Given the description of an element on the screen output the (x, y) to click on. 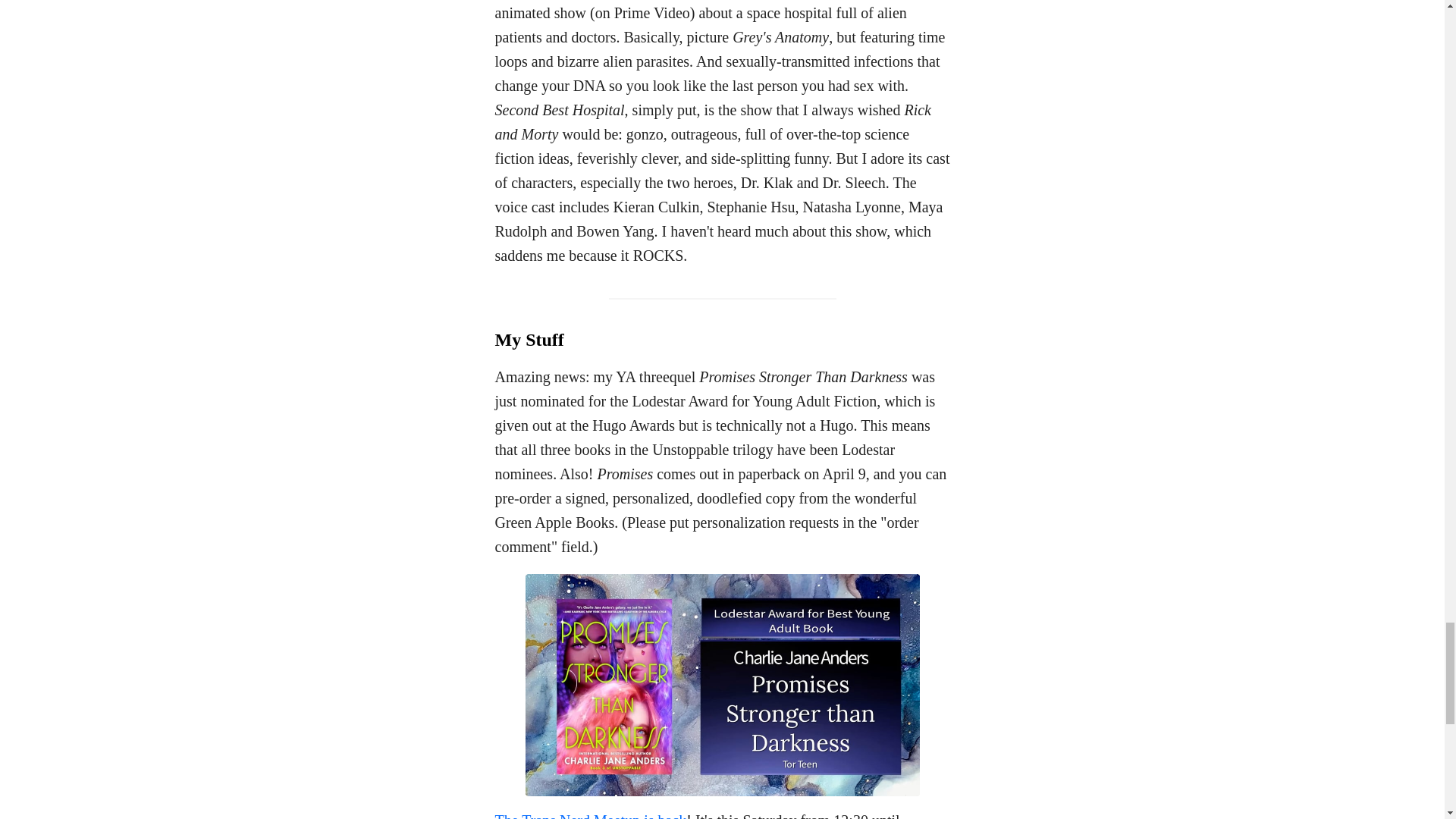
The Trans Nerd Meetup is back (590, 815)
